Given the description of an element on the screen output the (x, y) to click on. 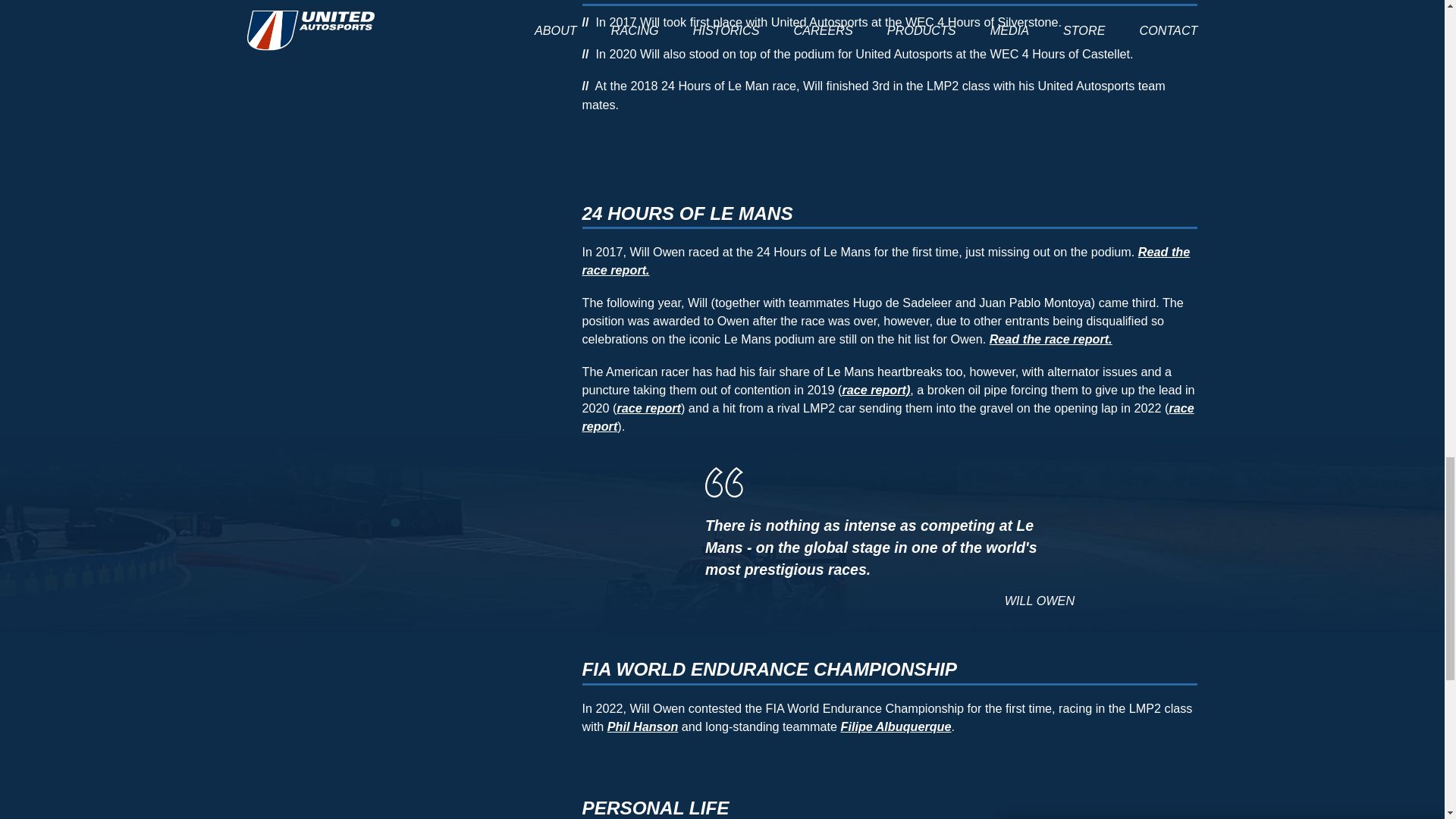
race report (648, 407)
Phil Hanson (642, 726)
Read the race report. (886, 260)
race report (887, 417)
Read the race report. (1051, 338)
